Given the description of an element on the screen output the (x, y) to click on. 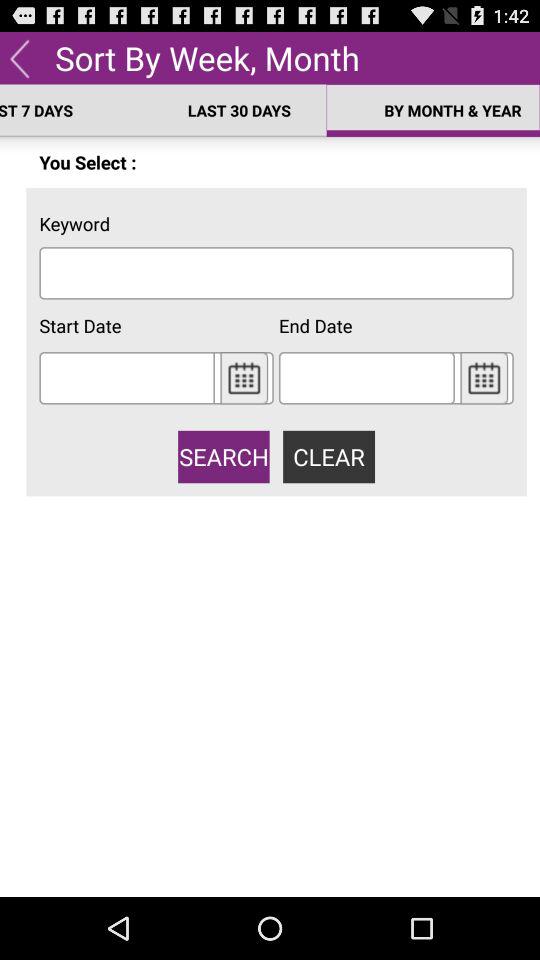
launch the item above last 7 days item (19, 57)
